Given the description of an element on the screen output the (x, y) to click on. 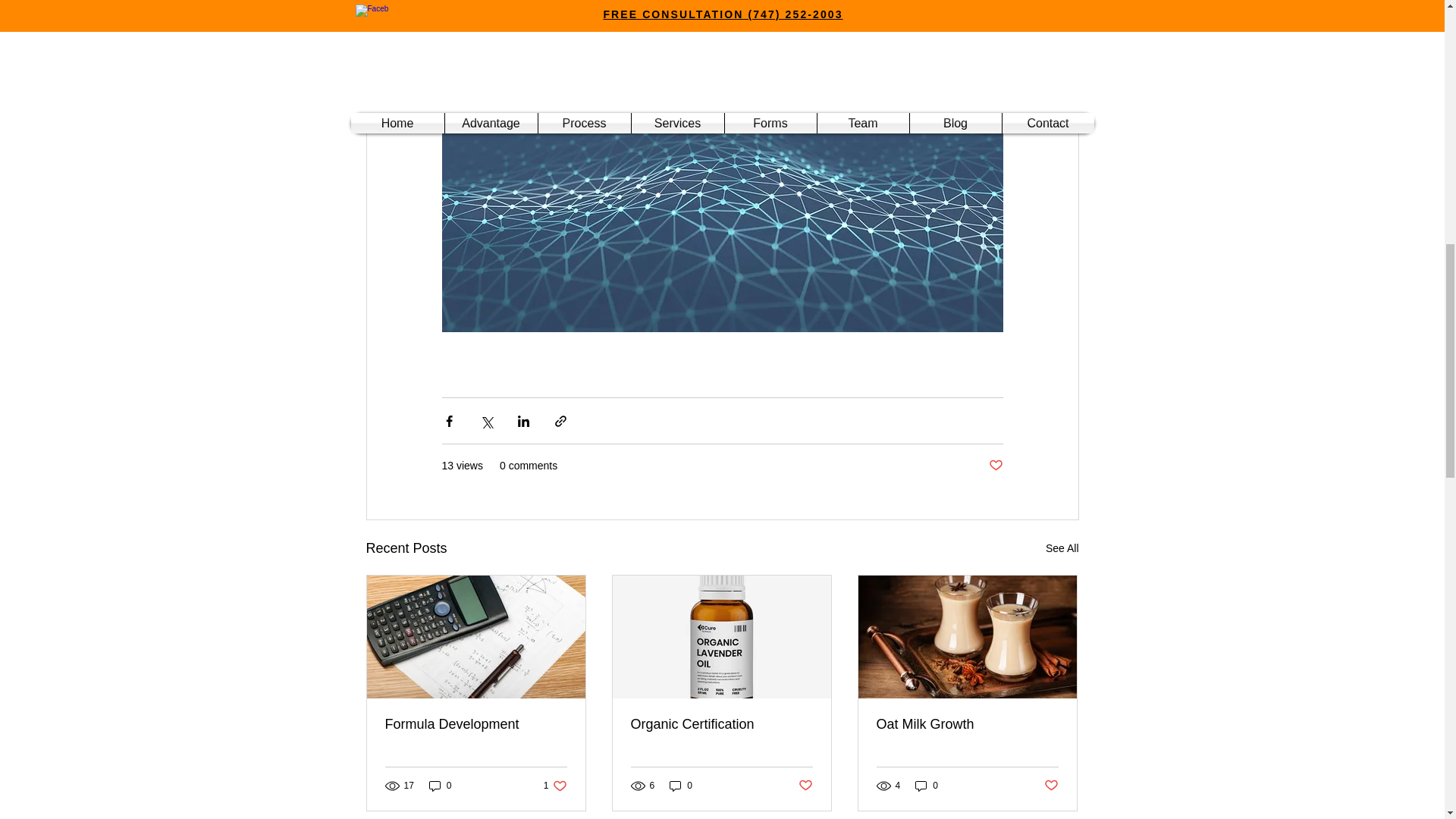
See All (1061, 548)
Oat Milk Growth (967, 724)
0 (681, 785)
Organic Certification (721, 724)
Post not marked as liked (995, 465)
Post not marked as liked (804, 785)
Formula Development (555, 785)
0 (476, 724)
0 (440, 785)
Post not marked as liked (926, 785)
